Given the description of an element on the screen output the (x, y) to click on. 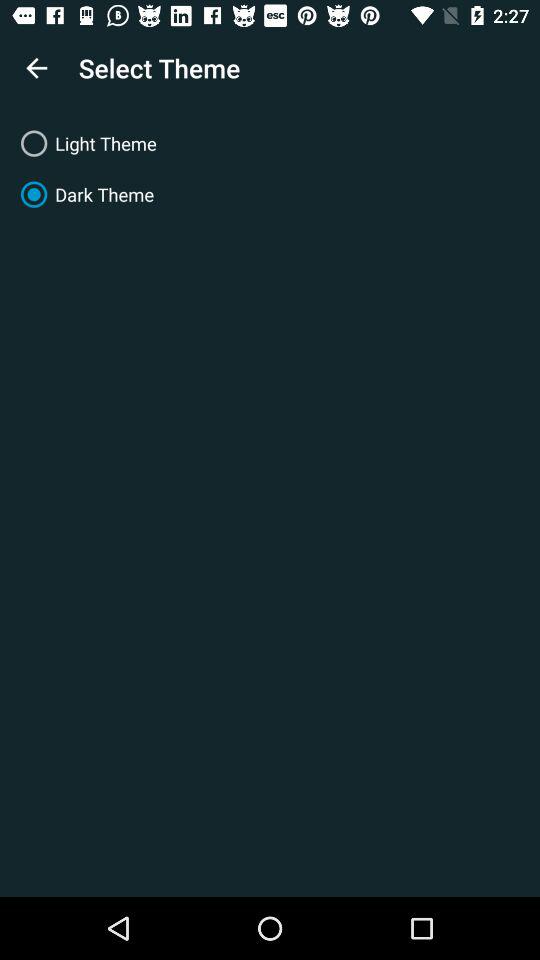
scroll to the light theme (269, 143)
